Given the description of an element on the screen output the (x, y) to click on. 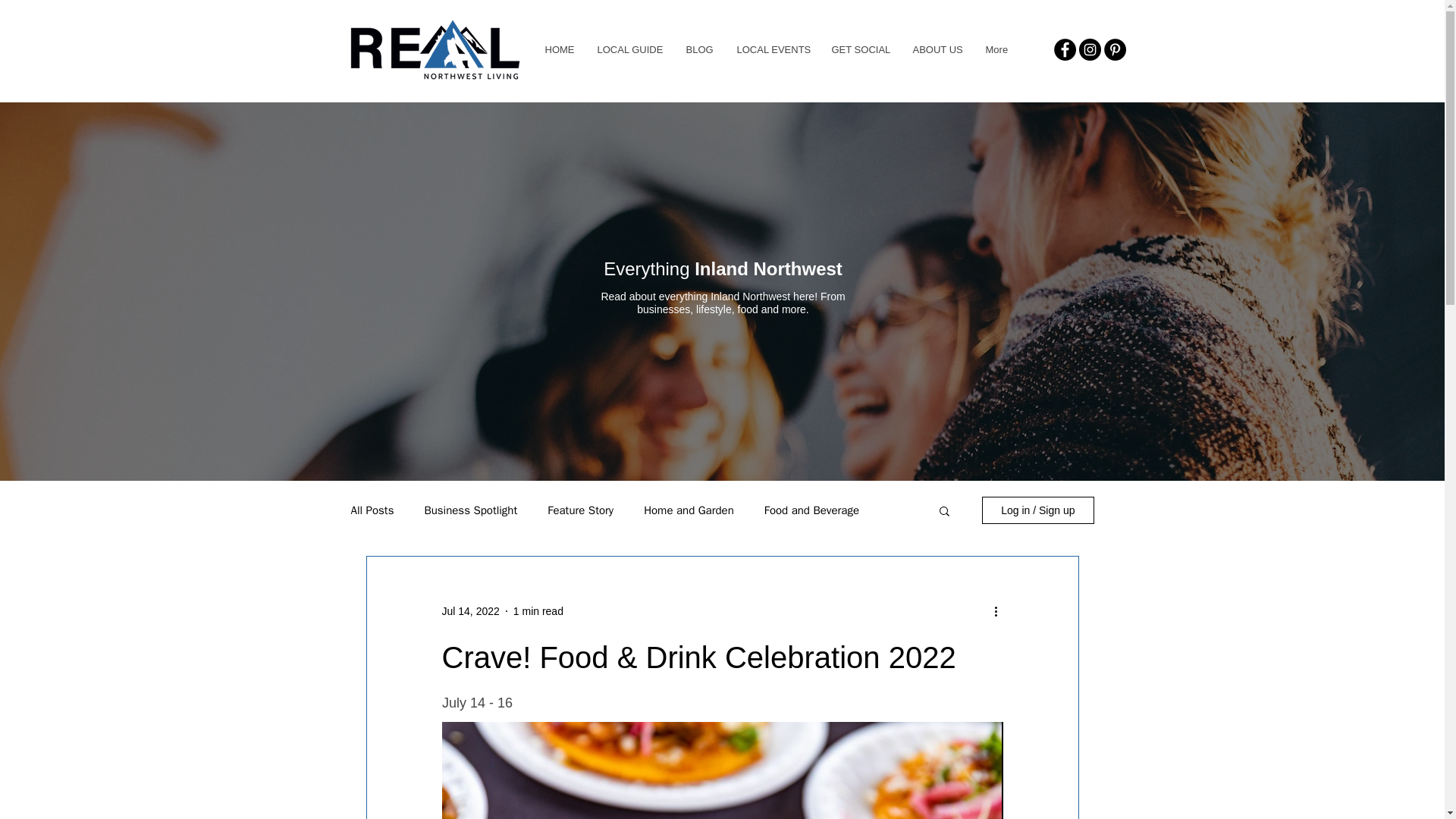
LOCAL EVENTS (772, 50)
Business Spotlight (469, 510)
ABOUT US (937, 50)
Home and Garden (688, 510)
Jul 14, 2022 (470, 611)
BLOG (697, 50)
LOCAL GUIDE (629, 50)
Feature Story (579, 510)
Food and Beverage (811, 510)
GET SOCIAL (858, 50)
All Posts (371, 510)
HOME (559, 50)
1 min read (538, 611)
